Given the description of an element on the screen output the (x, y) to click on. 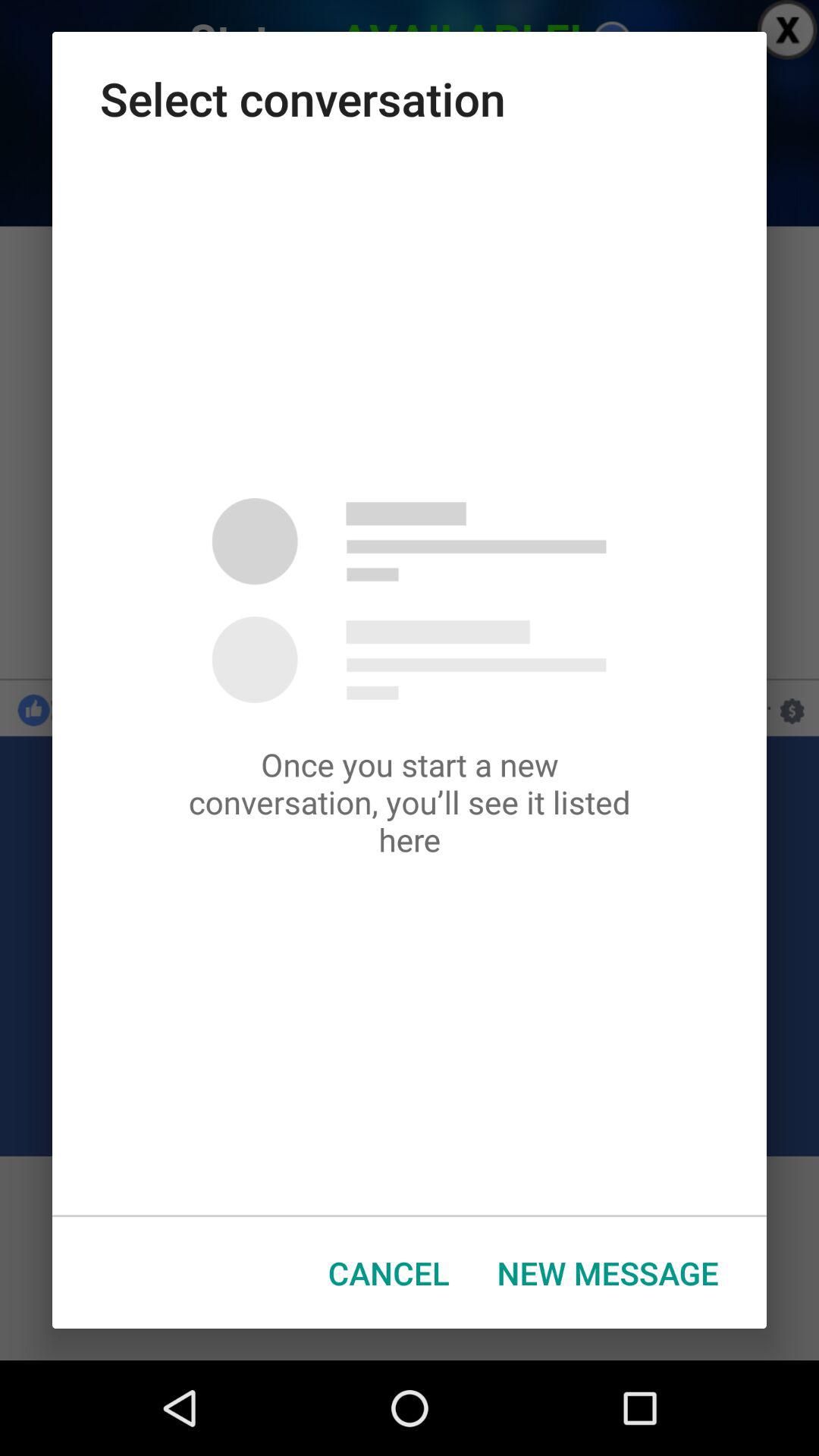
select the item to the left of new message (388, 1272)
